Given the description of an element on the screen output the (x, y) to click on. 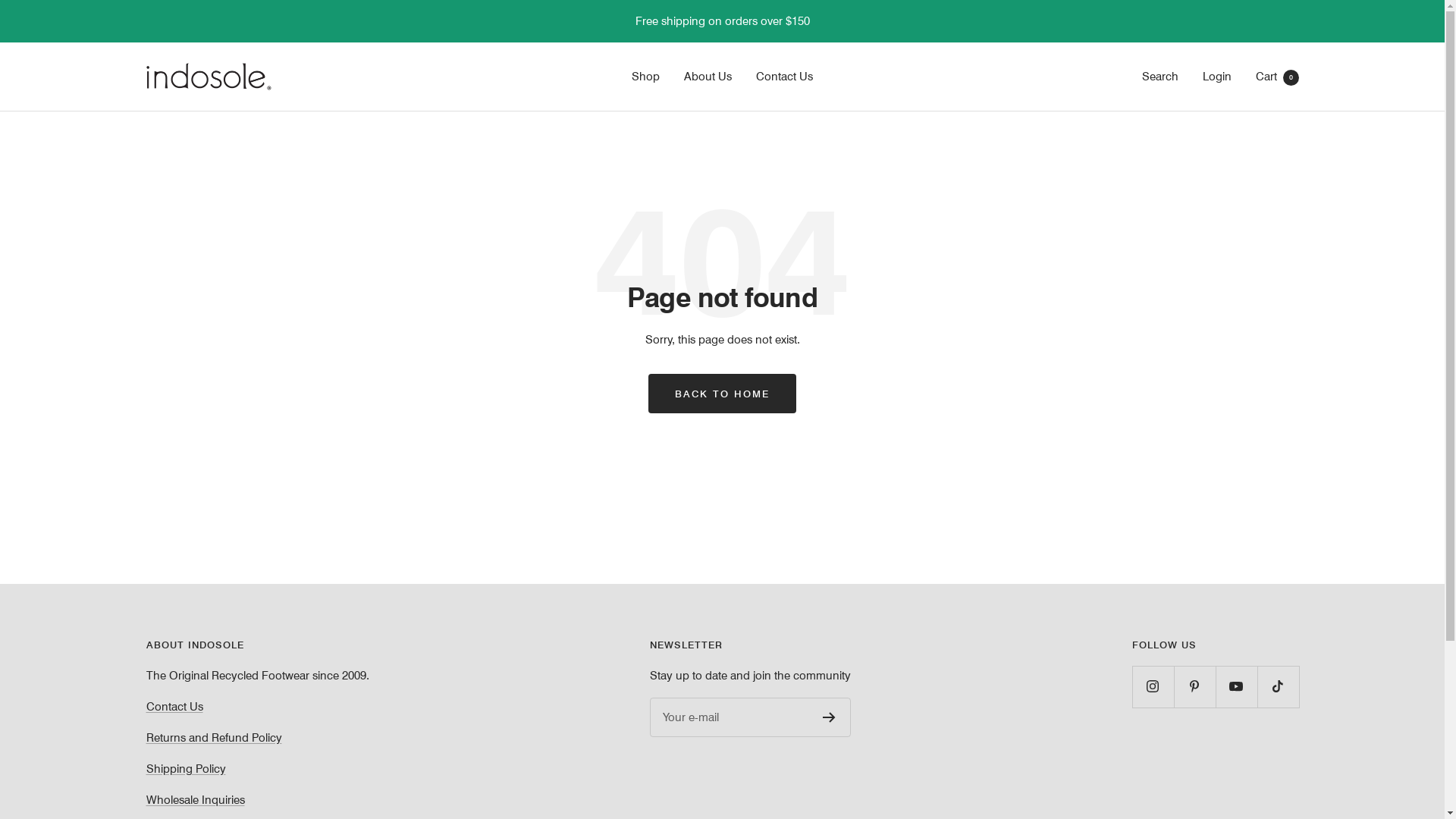
Wholesale Inquiries Element type: text (194, 798)
Cart
0 Element type: text (1277, 76)
Shipping Policy Element type: text (185, 768)
Contact Us Element type: text (173, 706)
Login Element type: text (1216, 76)
Search Element type: text (1160, 76)
Returns and Refund Policy Element type: text (213, 736)
About Us Element type: text (707, 76)
Shop Element type: text (645, 76)
Contact Us Element type: text (784, 76)
Indosole Australia Element type: text (207, 76)
Register Element type: hover (828, 716)
BACK TO HOME Element type: text (722, 392)
